Given the description of an element on the screen output the (x, y) to click on. 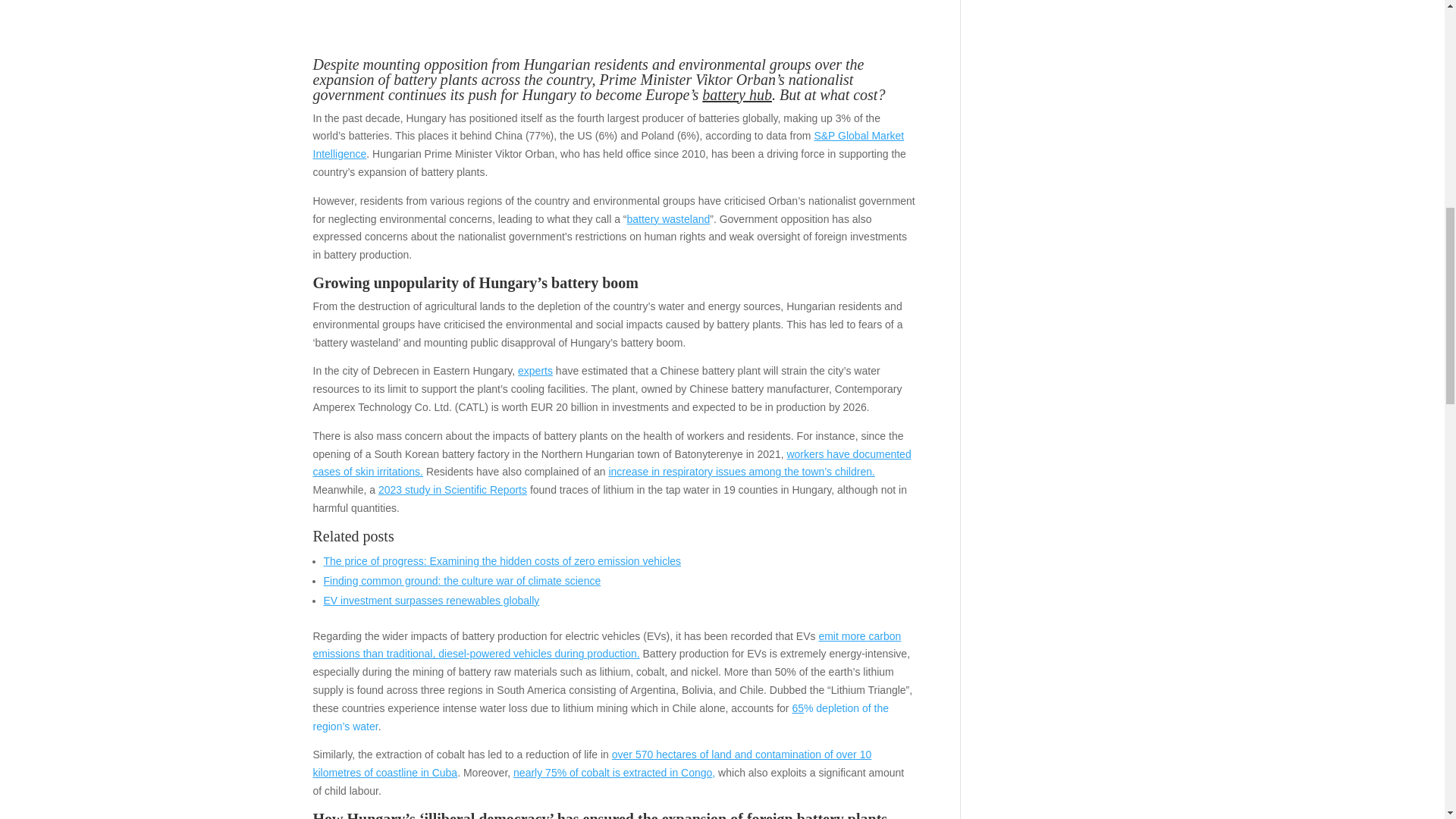
EV investment surpasses renewables globally (430, 600)
battery hub (734, 94)
workers have documented cases of skin irritations. (612, 462)
2023 study in Scientific Reports (452, 490)
experts (535, 370)
battery wasteland (668, 218)
Finding common ground: the culture war of climate science (461, 580)
